Given the description of an element on the screen output the (x, y) to click on. 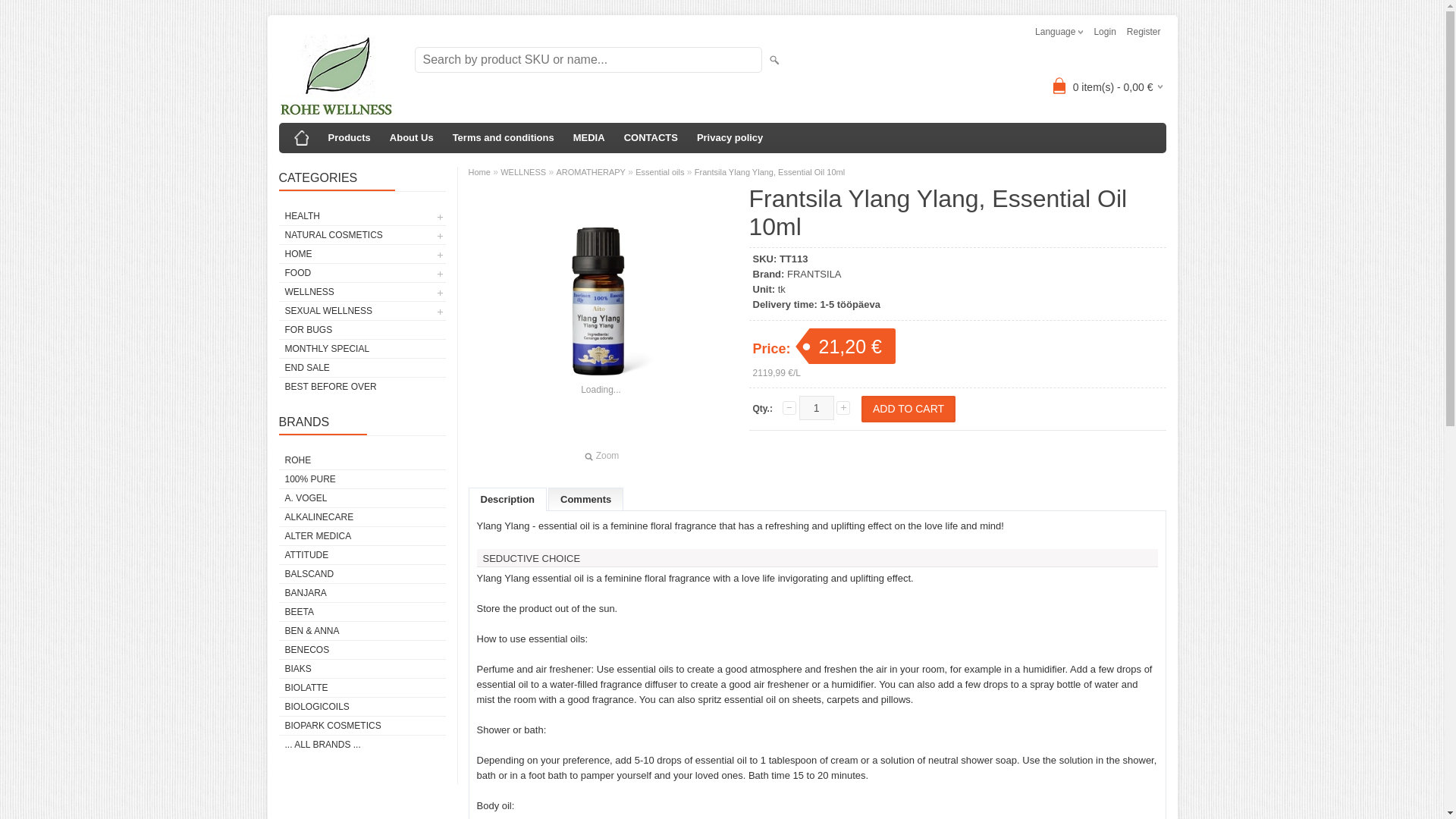
HEALTH (362, 216)
MEDIA (589, 137)
Home (301, 137)
Terms and conditions (503, 137)
CONTACTS (650, 137)
About Us (411, 137)
Add to cart (908, 408)
Privacy policy (729, 137)
Login (1104, 31)
Register (1143, 31)
frantsila-ylang-ylang-10ml-768x844.jpg (600, 317)
frantsila-ylang-ylang-10ml-768x844.jpg (601, 455)
Products (348, 137)
1 (816, 407)
